Given the description of an element on the screen output the (x, y) to click on. 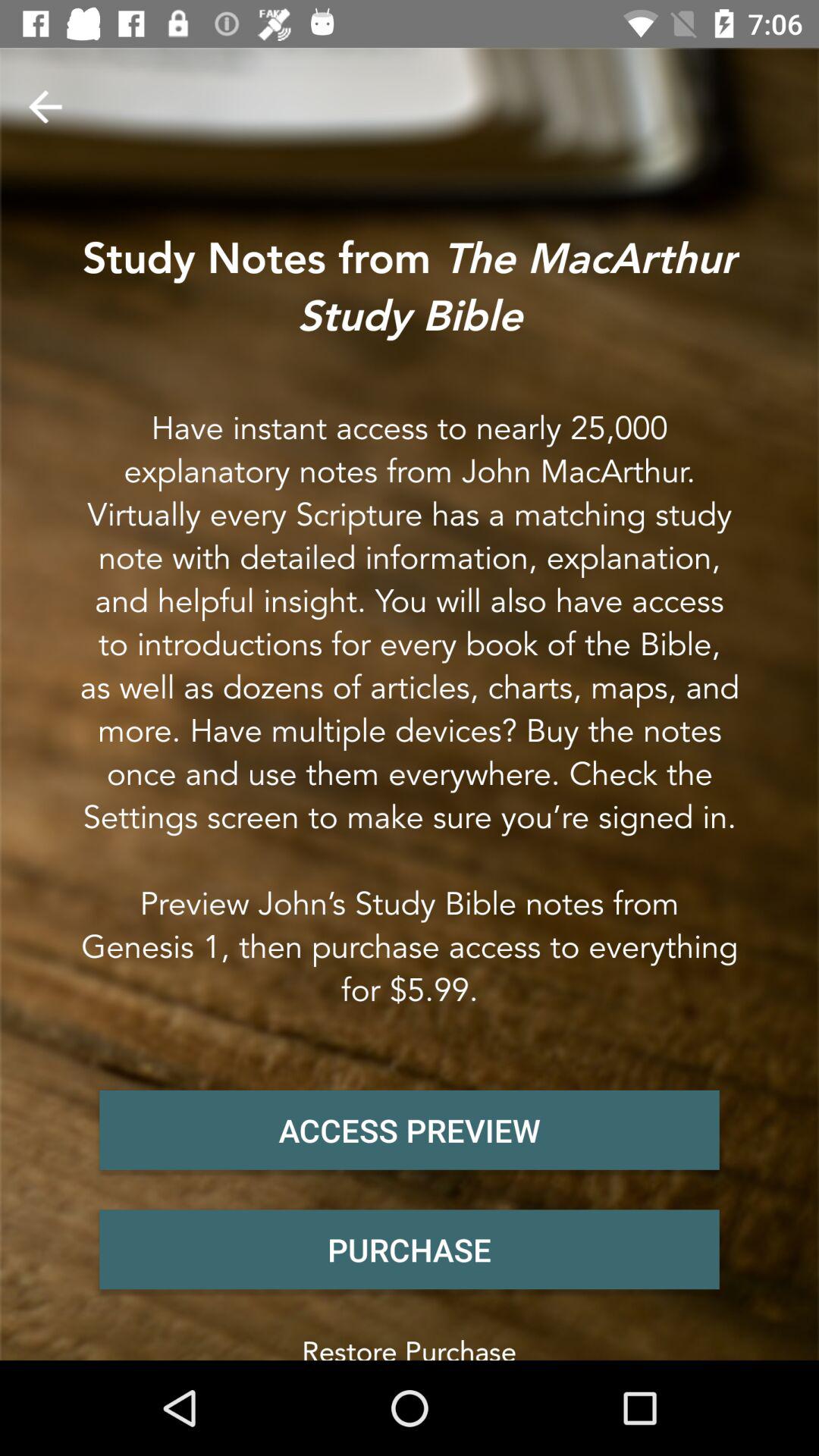
select the item below have instant access item (409, 1129)
